Given the description of an element on the screen output the (x, y) to click on. 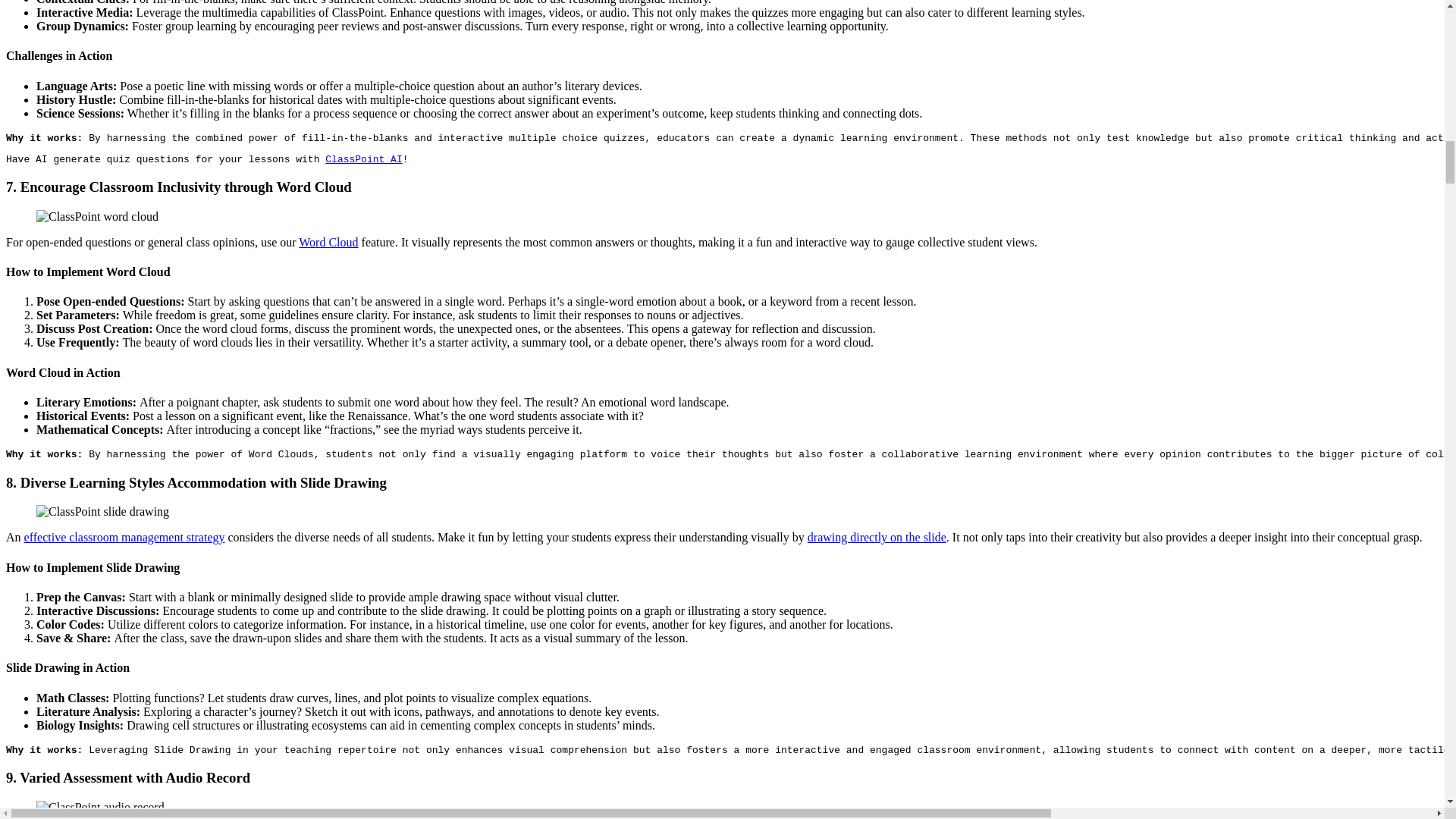
drawing directly on the slide (877, 536)
ClassPoint AI (362, 159)
Word Cloud (328, 241)
effective classroom management strategy (124, 536)
